Given the description of an element on the screen output the (x, y) to click on. 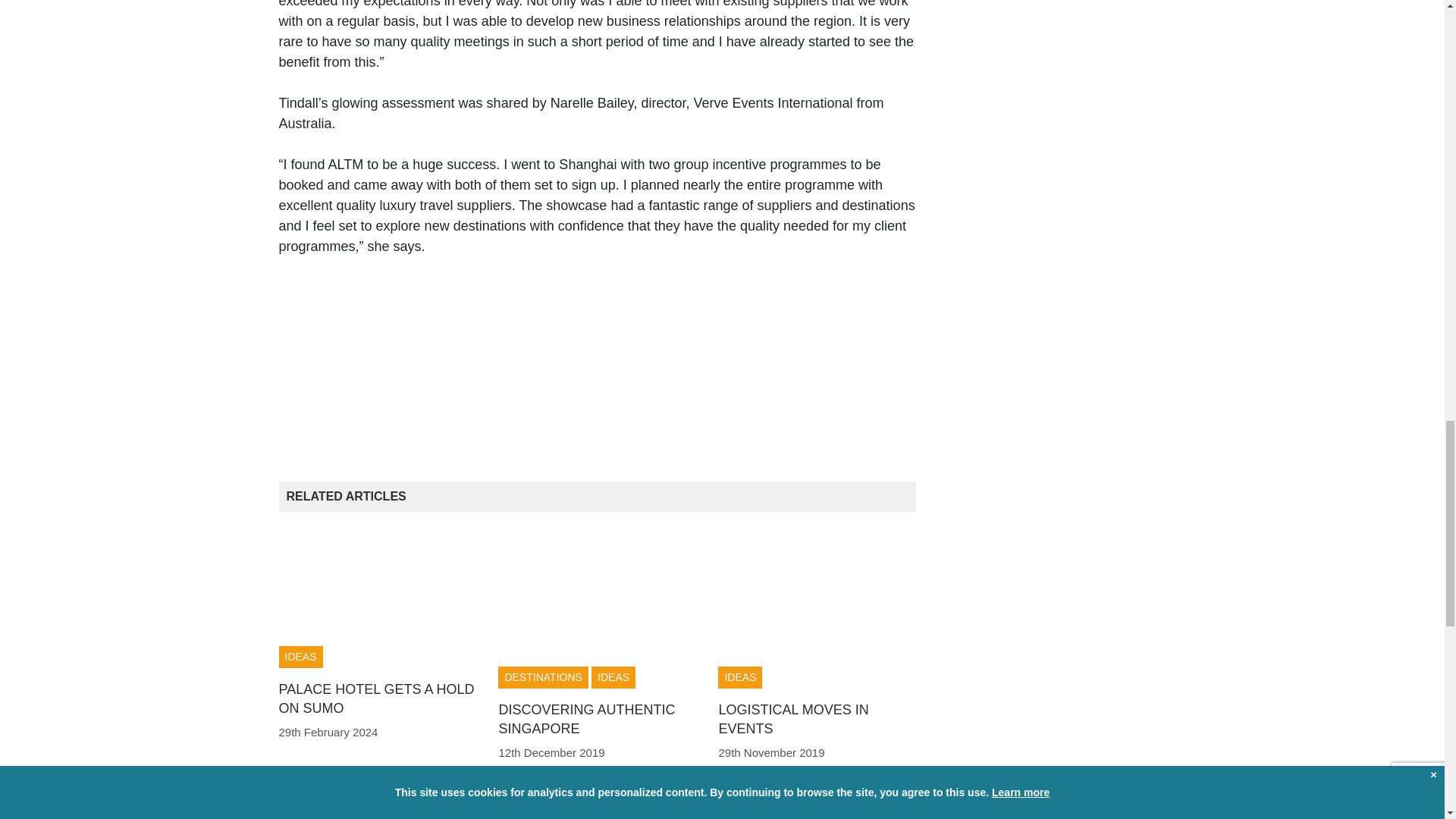
DESTINATIONS (542, 677)
LOGISTICAL MOVES IN EVENTS (792, 718)
PALACE HOTEL GETS A HOLD ON SUMO (376, 698)
IDEAS (612, 677)
IDEAS (301, 657)
IDEAS (739, 677)
DISCOVERING AUTHENTIC SINGAPORE (586, 718)
